Given the description of an element on the screen output the (x, y) to click on. 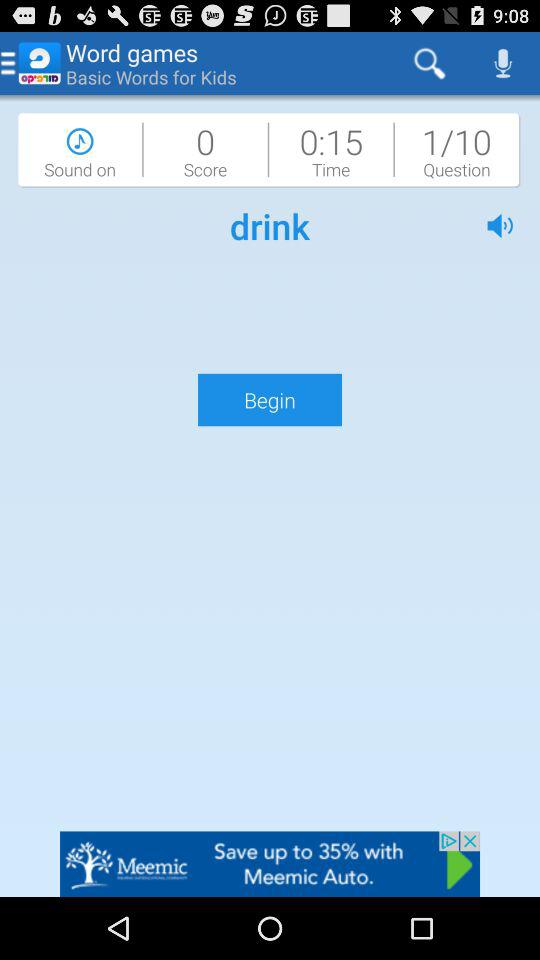
link to advertisement (270, 864)
